Given the description of an element on the screen output the (x, y) to click on. 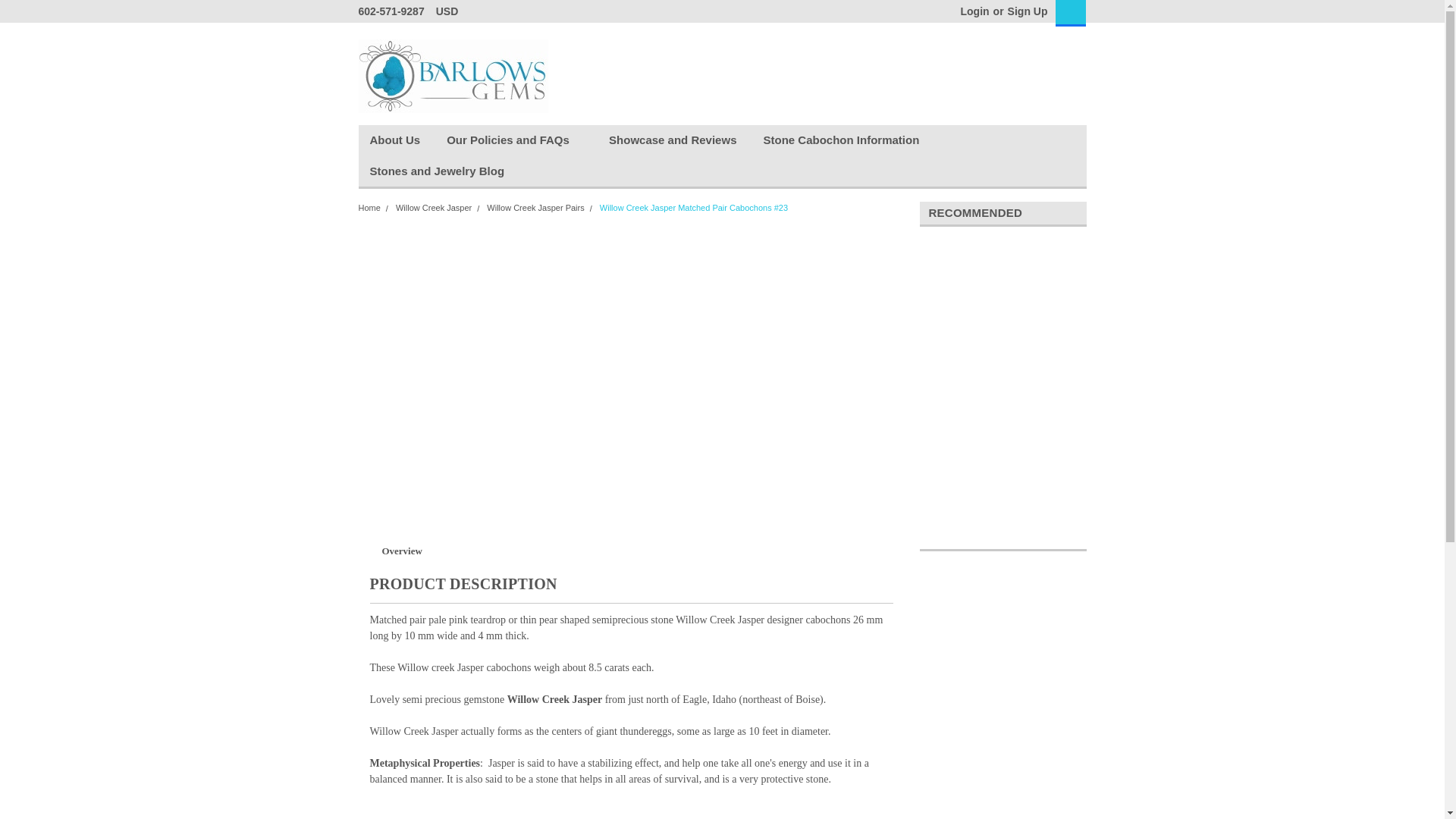
Sign Up (1026, 11)
USD (451, 11)
Barlows Gems (452, 76)
Login (973, 11)
Currency Selector (451, 11)
